Given the description of an element on the screen output the (x, y) to click on. 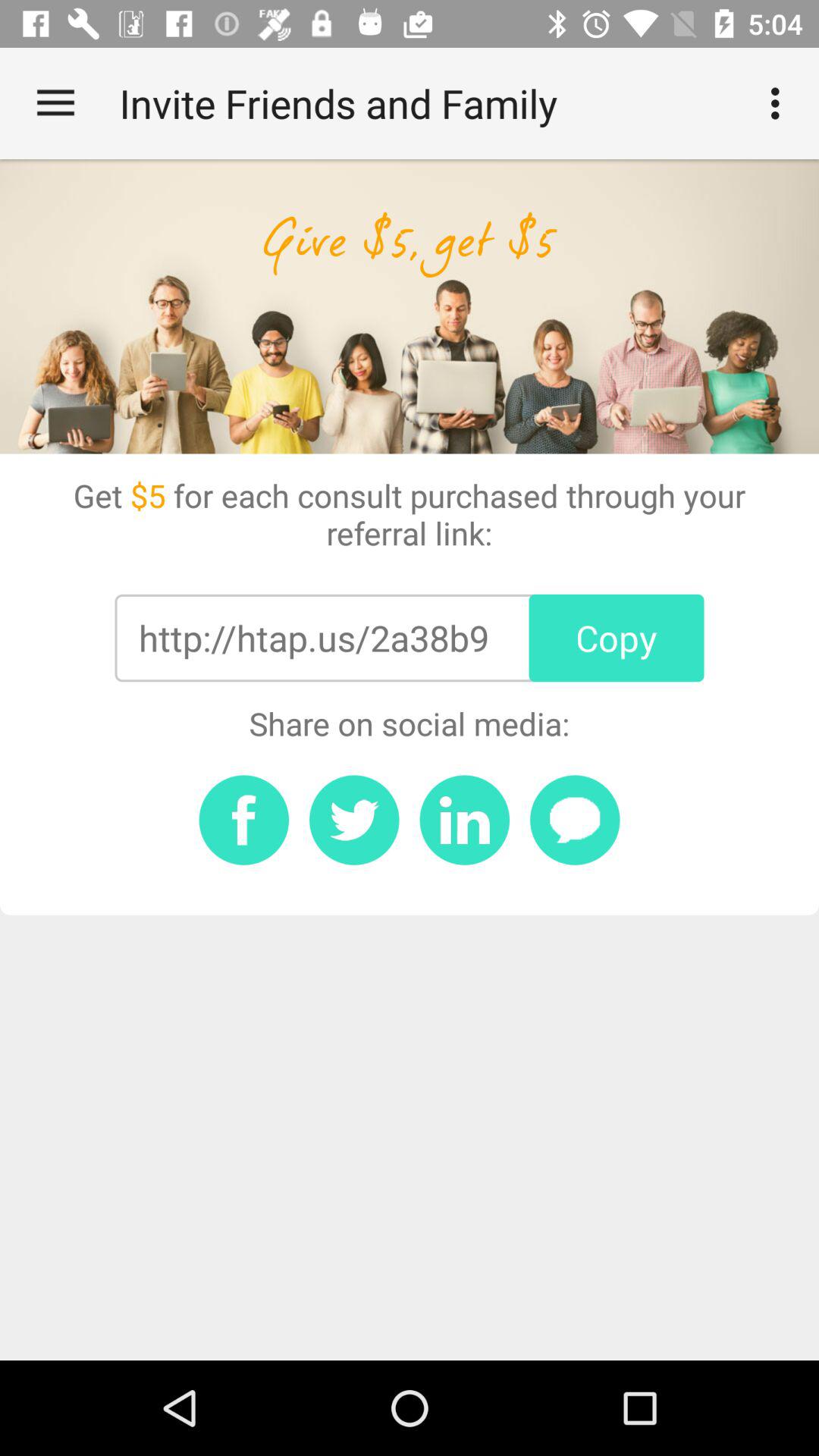
twitter (354, 820)
